Given the description of an element on the screen output the (x, y) to click on. 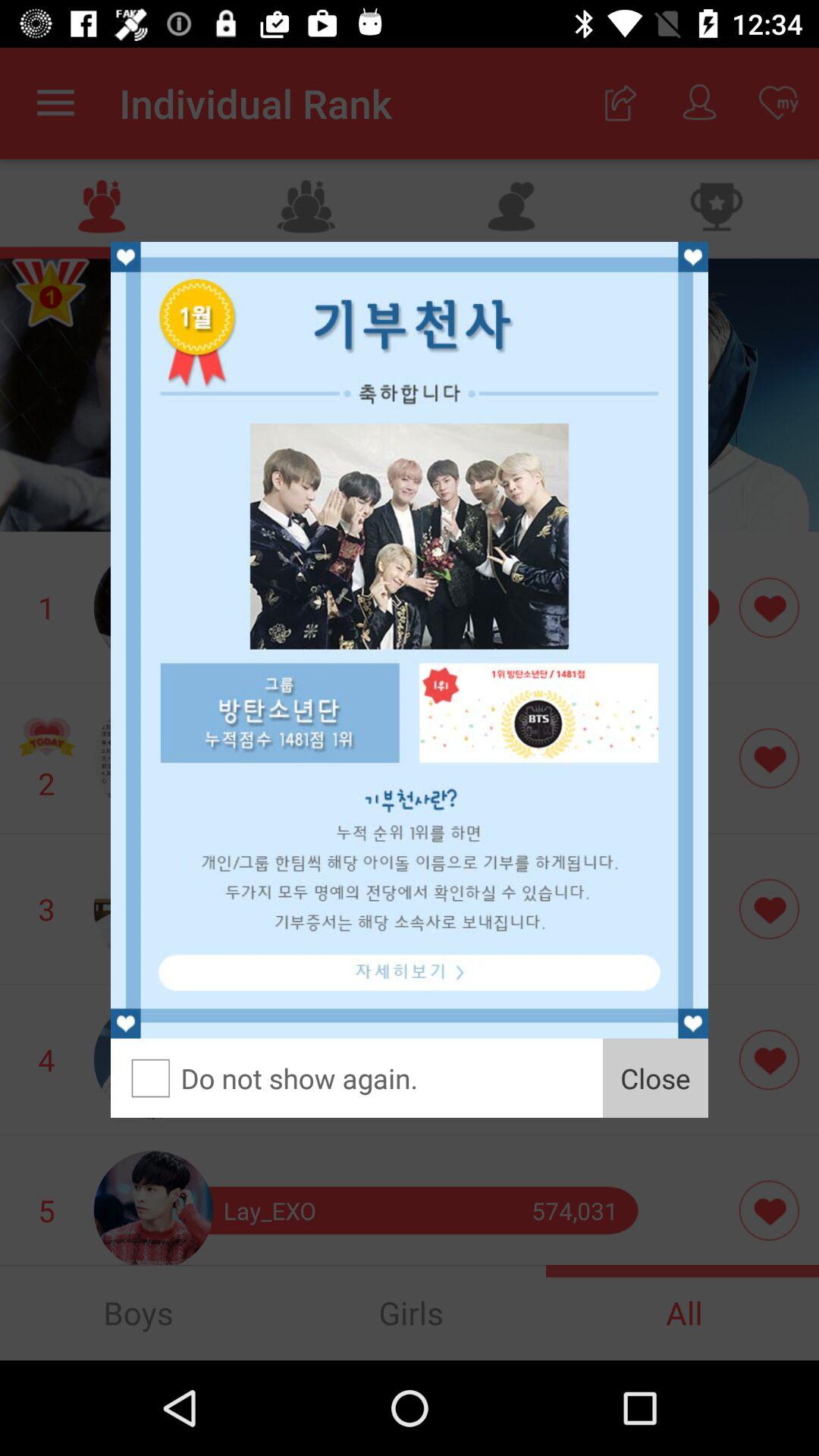
shows the image (409, 640)
